Given the description of an element on the screen output the (x, y) to click on. 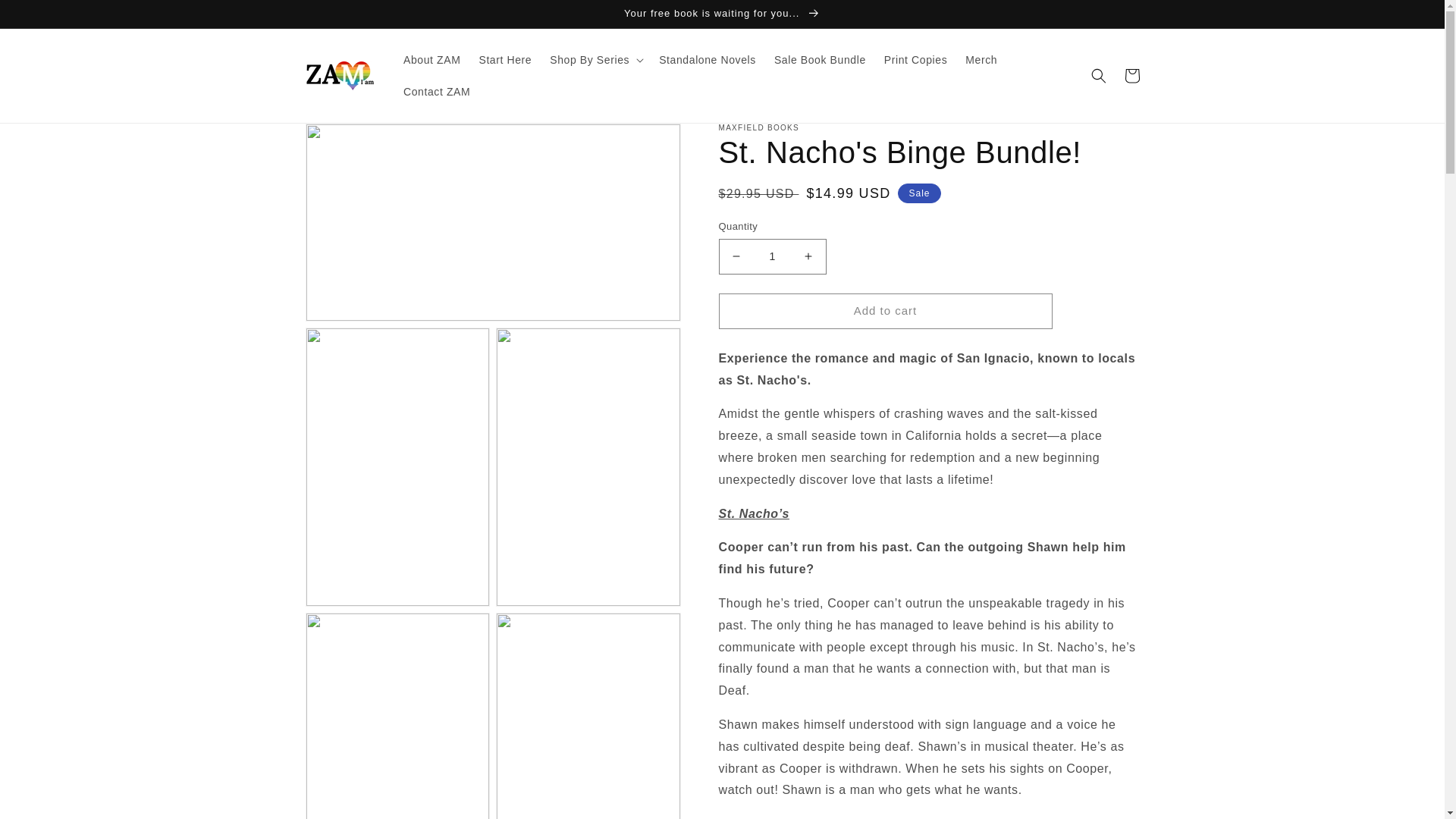
Merch (981, 60)
Standalone Novels (707, 60)
Skip to content (45, 17)
Print Copies (915, 60)
Start Here (504, 60)
Skip to product information (350, 140)
About ZAM (431, 60)
Cart (1131, 75)
1 (773, 256)
Contact ZAM (436, 91)
